Given the description of an element on the screen output the (x, y) to click on. 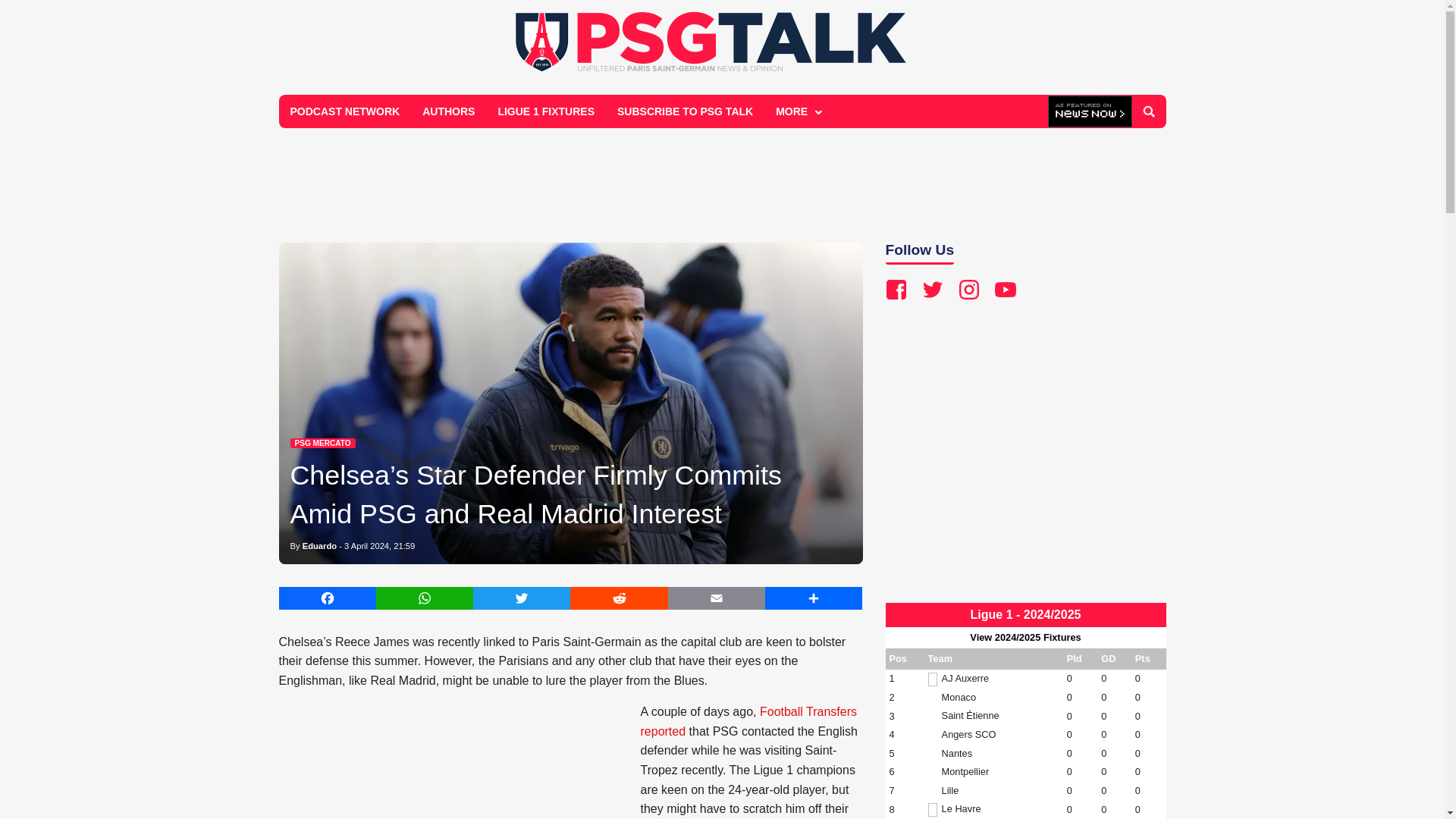
Search (1147, 111)
WhatsApp (424, 598)
PSG MERCATO (322, 442)
LIGUE 1 FIXTURES (545, 111)
Twitter (521, 598)
SUBSCRIBE TO PSG TALK (684, 111)
Football Transfers reported  (748, 721)
3 April 2024, 21:59 (378, 545)
Email (716, 598)
Click here for more PSG news from NewsNow (1090, 111)
